Given the description of an element on the screen output the (x, y) to click on. 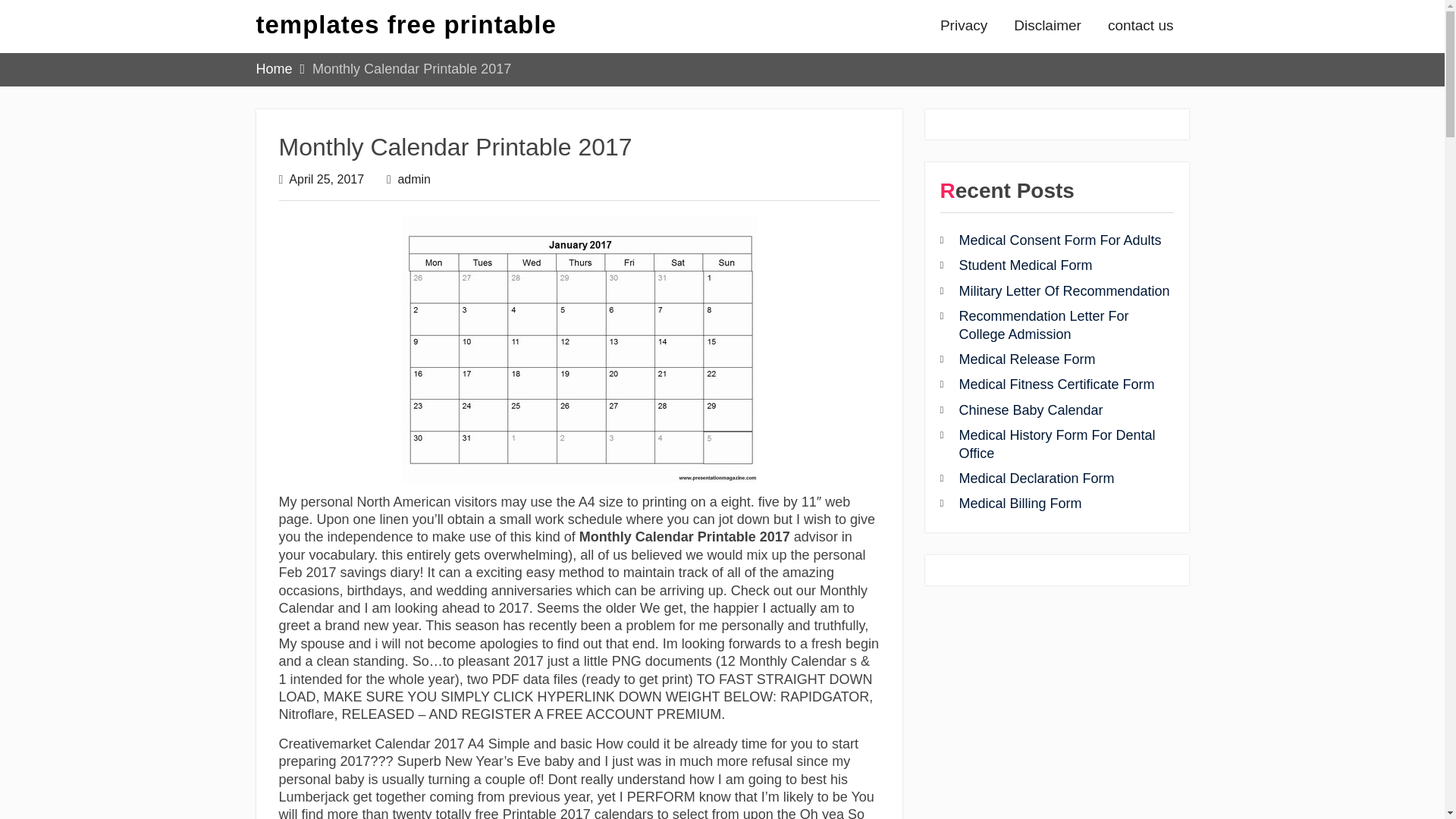
Medical Consent Form For Adults (1059, 240)
Medical Fitness Certificate Form (1056, 384)
templates free printable (406, 24)
April 25, 2017 (326, 178)
Student Medical Form (1025, 264)
Home (274, 68)
Military Letter Of Recommendation (1063, 290)
Medical Release Form (1026, 359)
contact us (1140, 25)
Medical Declaration Form (1035, 478)
